Given the description of an element on the screen output the (x, y) to click on. 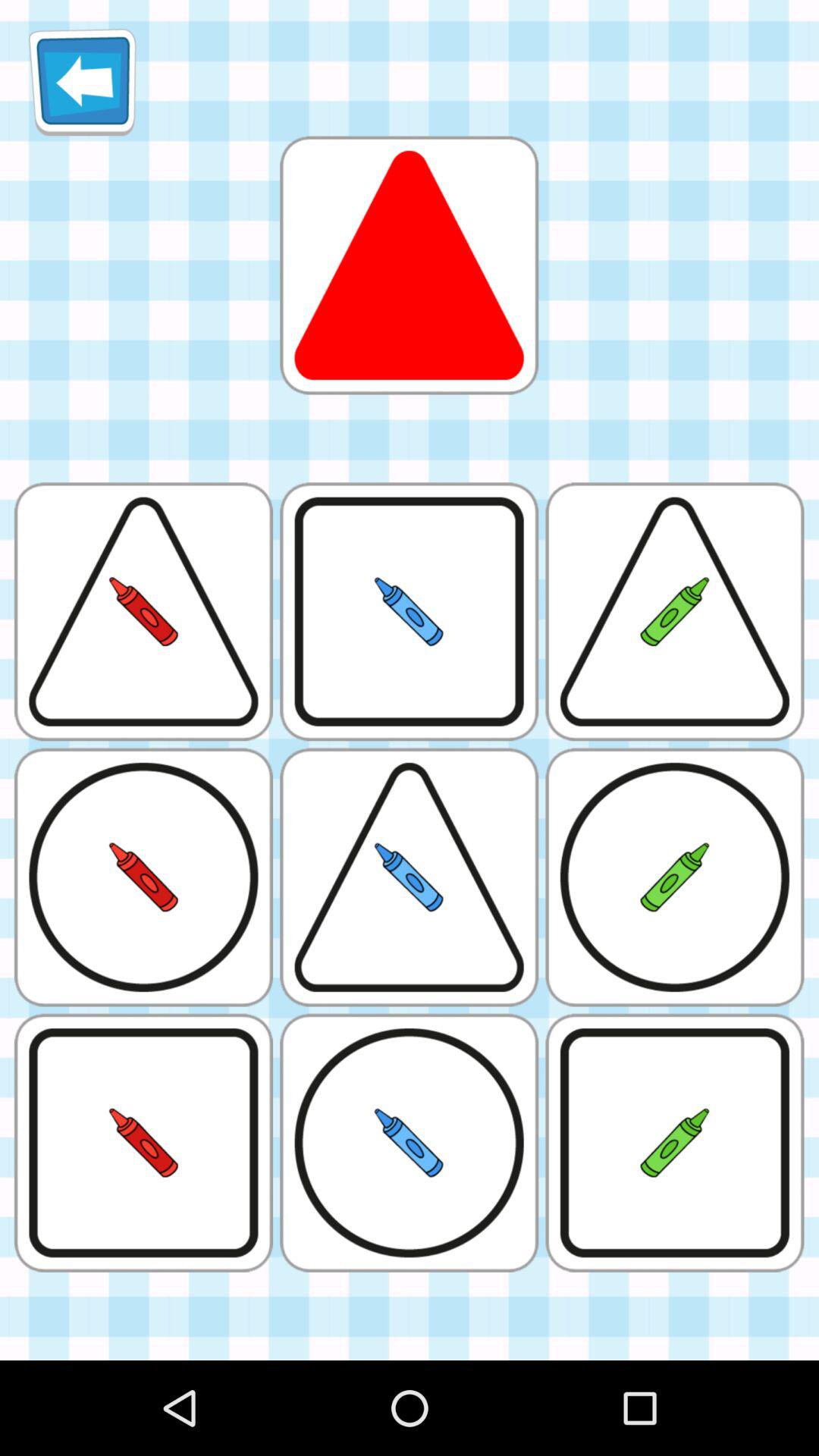
choose the triangular shape (409, 265)
